Given the description of an element on the screen output the (x, y) to click on. 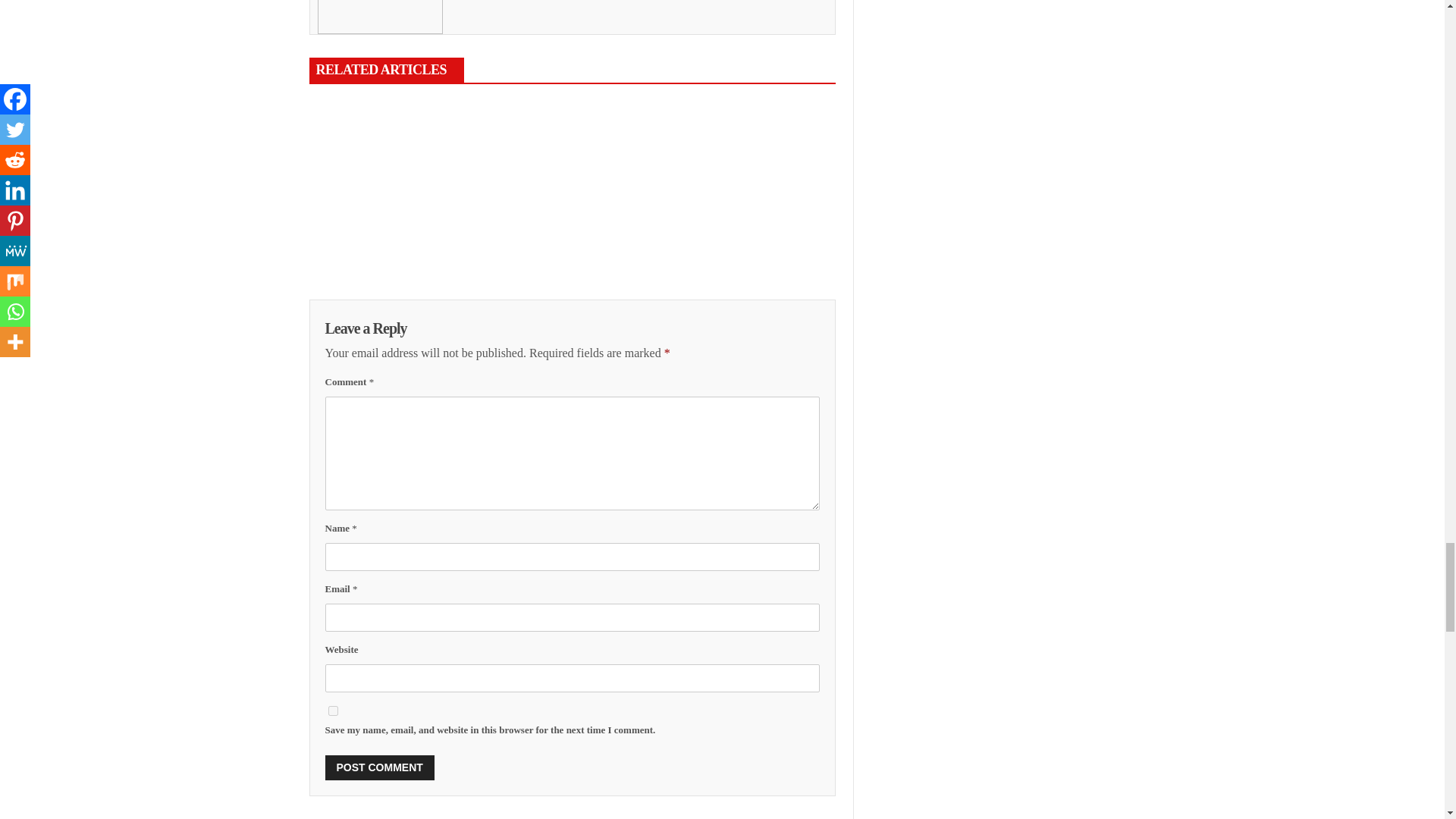
yes (332, 710)
Post Comment (378, 767)
